Given the description of an element on the screen output the (x, y) to click on. 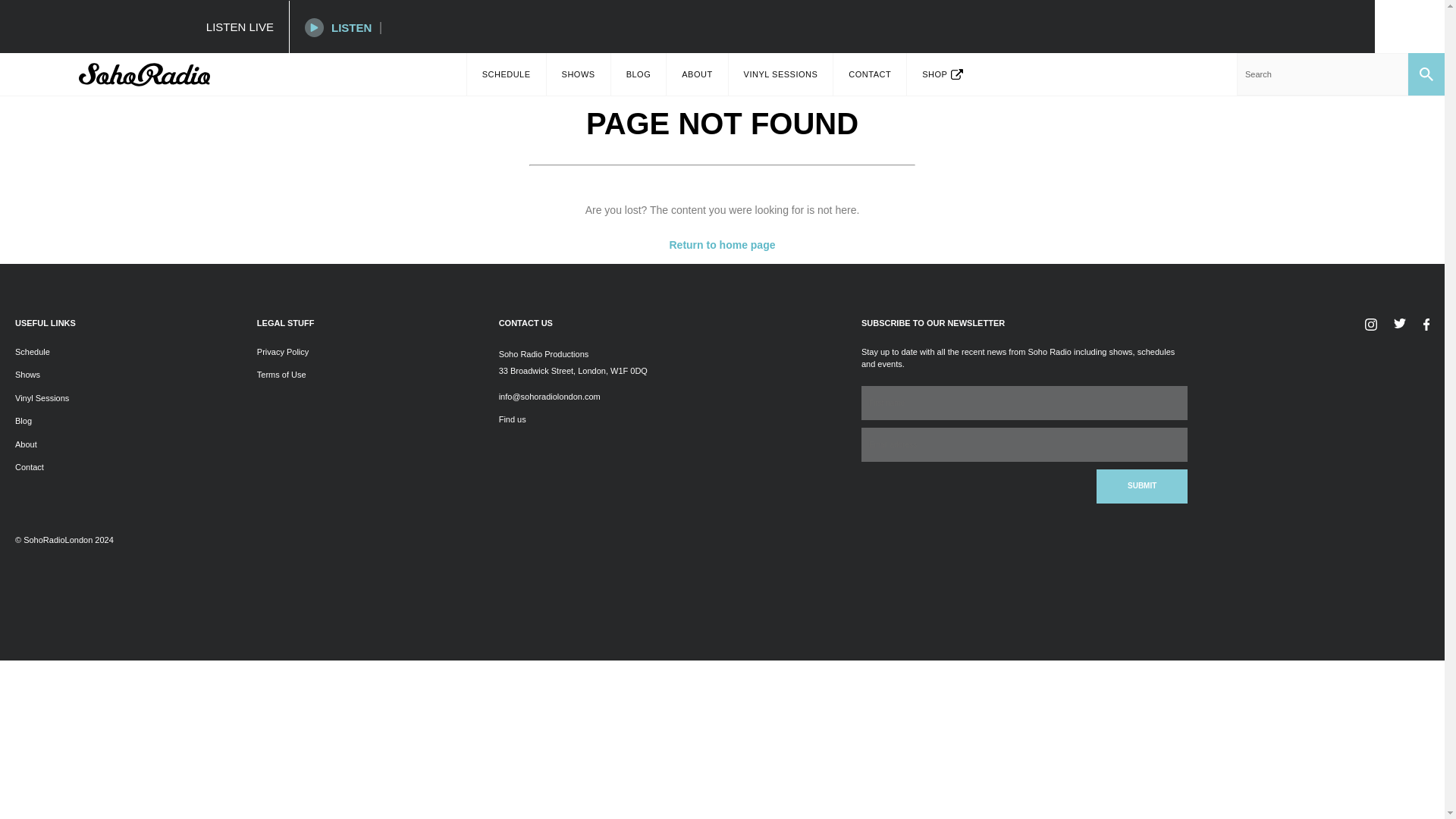
Schedule (31, 351)
CONTACT (868, 74)
Submit (1142, 486)
Contact (28, 466)
BLOG (638, 74)
SHOWS (578, 74)
VINYL SESSIONS (780, 74)
Blog (23, 420)
Terms of Use (281, 374)
Privacy Policy (282, 351)
